Given the description of an element on the screen output the (x, y) to click on. 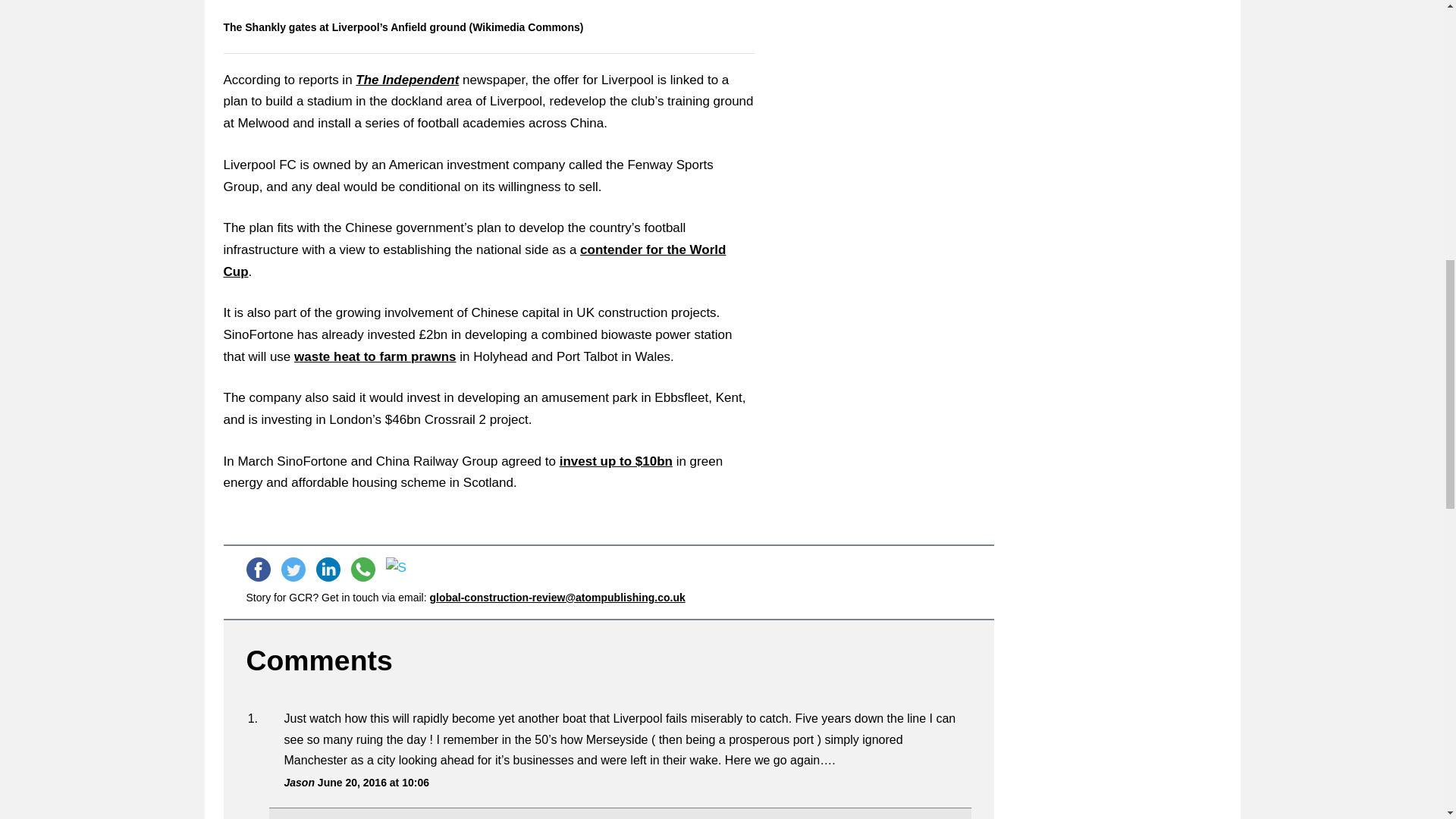
Tweet (292, 569)
Share on Facebook (257, 569)
Share on LinkedIn (327, 569)
Share on WhatsApp (362, 569)
Send email (397, 569)
